Given the description of an element on the screen output the (x, y) to click on. 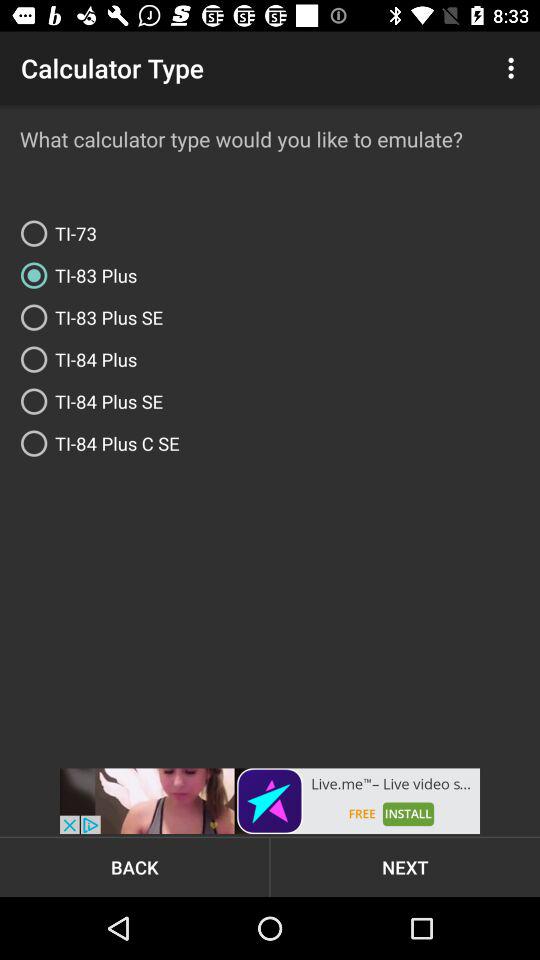
advertisement (270, 801)
